Given the description of an element on the screen output the (x, y) to click on. 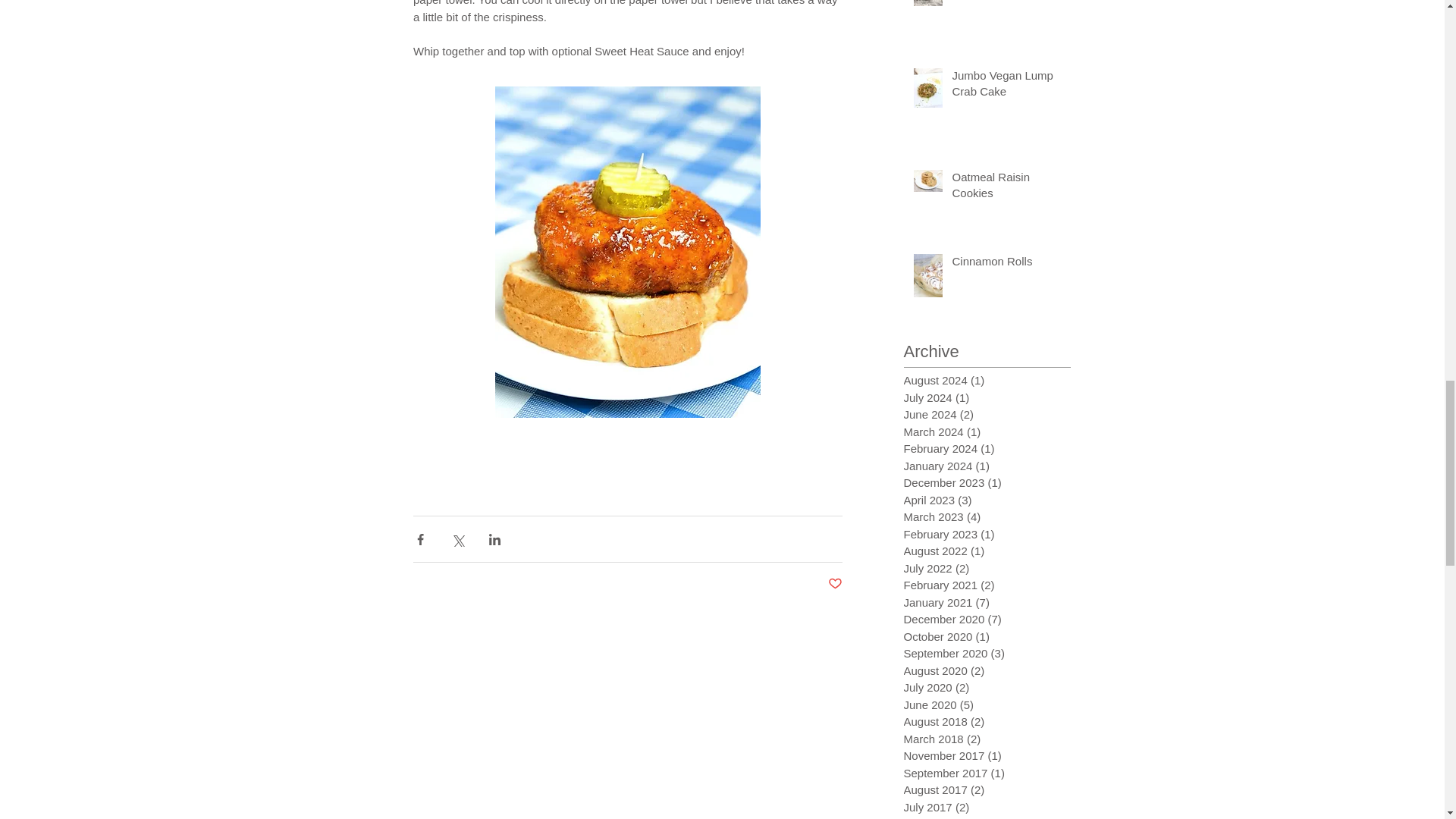
Cinnamon Rolls (1006, 264)
Oatmeal Raisin Cookies (1006, 187)
Post not marked as liked (835, 584)
Jumbo Vegan Lump Crab Cake (1006, 86)
